Given the description of an element on the screen output the (x, y) to click on. 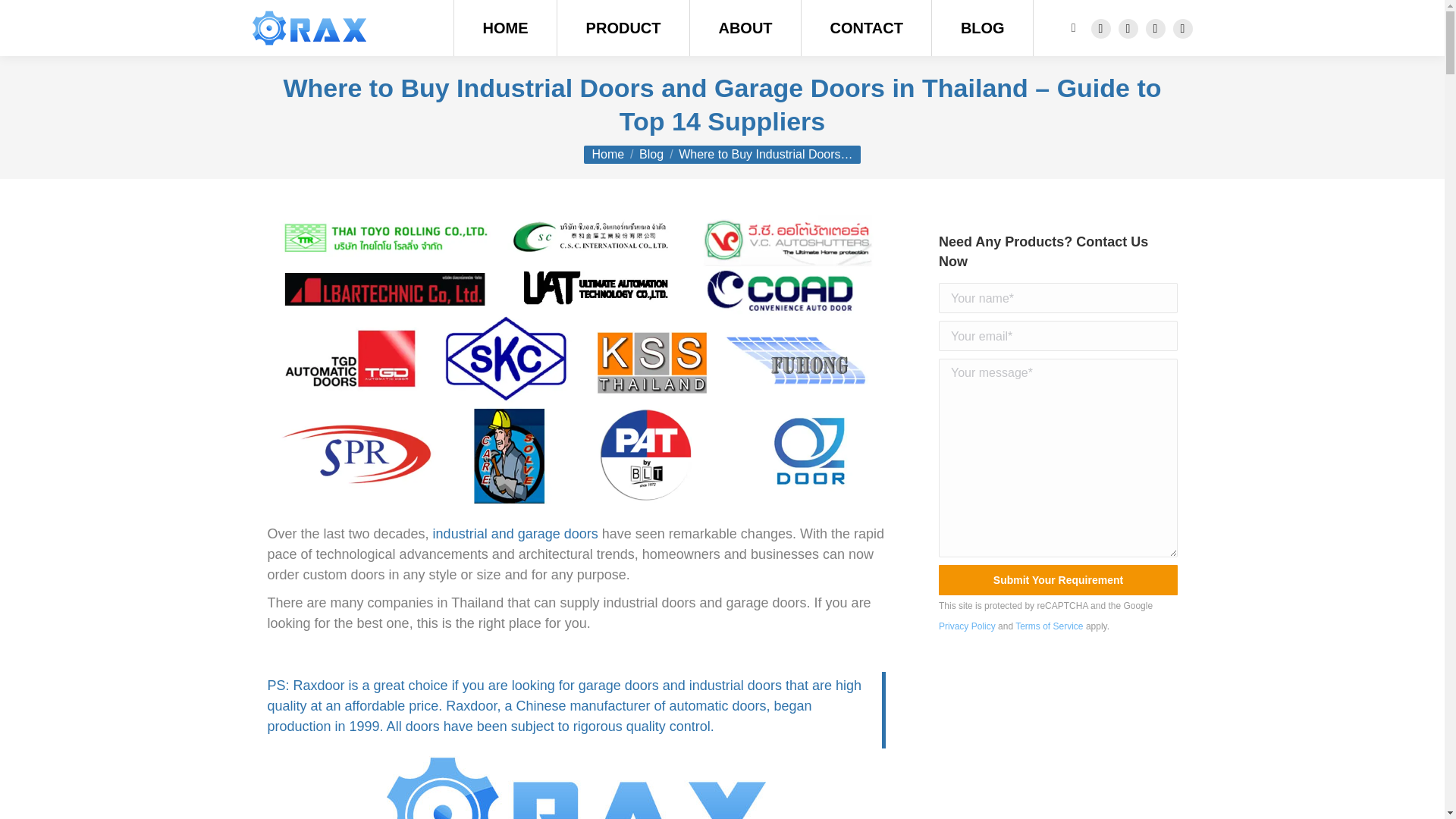
Submit Your Requirement (1058, 580)
Pinterest page opens in new window (1182, 27)
HOME (505, 28)
Facebook page opens in new window (1099, 27)
Twitter page opens in new window (1127, 27)
Blog (651, 154)
Instagram page opens in new window (1154, 27)
Home (607, 154)
PRODUCT (623, 28)
